Given the description of an element on the screen output the (x, y) to click on. 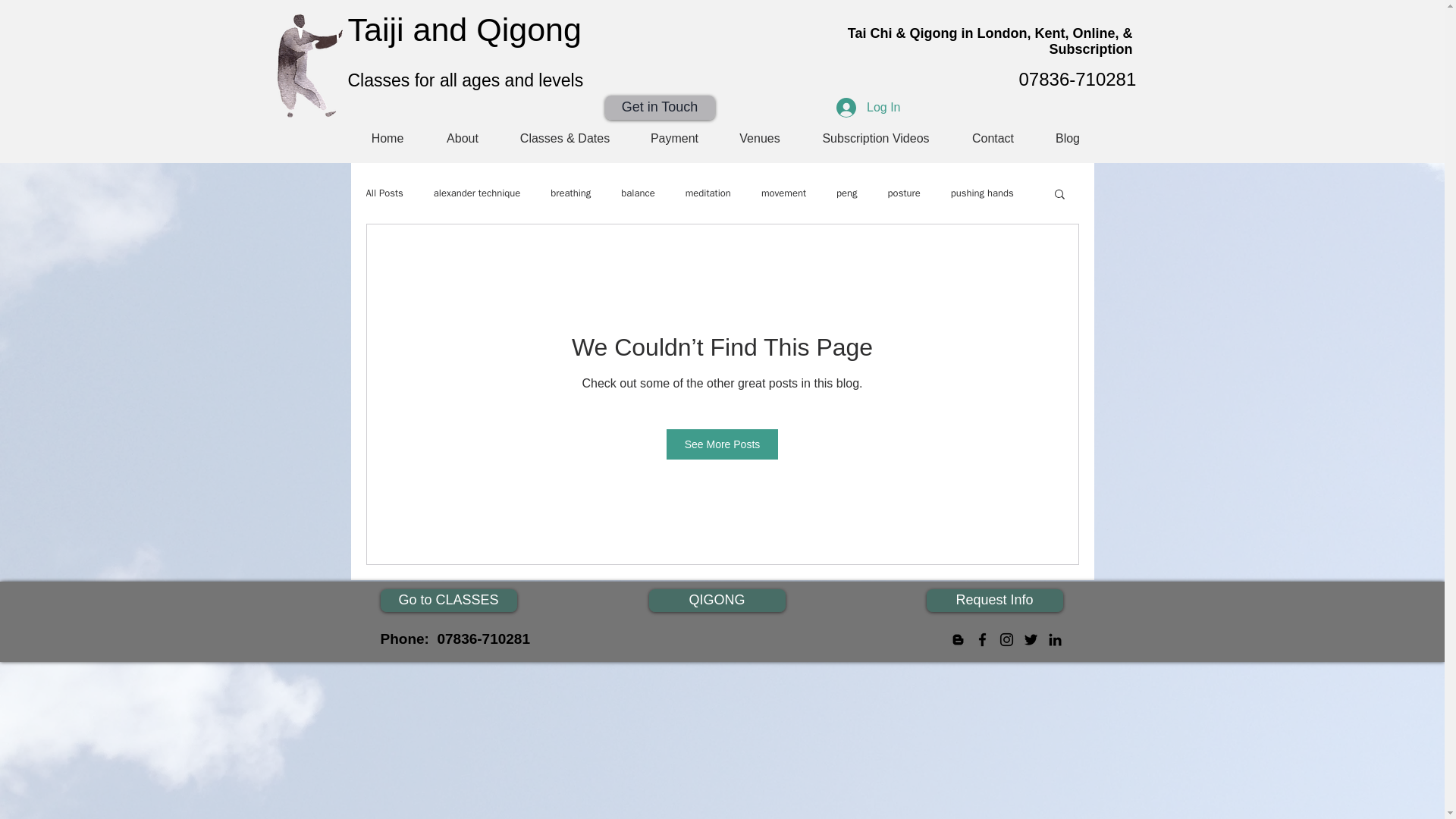
Taiji and (411, 29)
07836-710281 (1078, 78)
All Posts (384, 192)
alexander technique (476, 192)
breathing (570, 192)
Classes for all ages and levels (465, 80)
Log In (868, 107)
Blog (1066, 138)
Payment (673, 138)
Get in Touch (659, 107)
Venues (759, 138)
Home (387, 138)
